Given the description of an element on the screen output the (x, y) to click on. 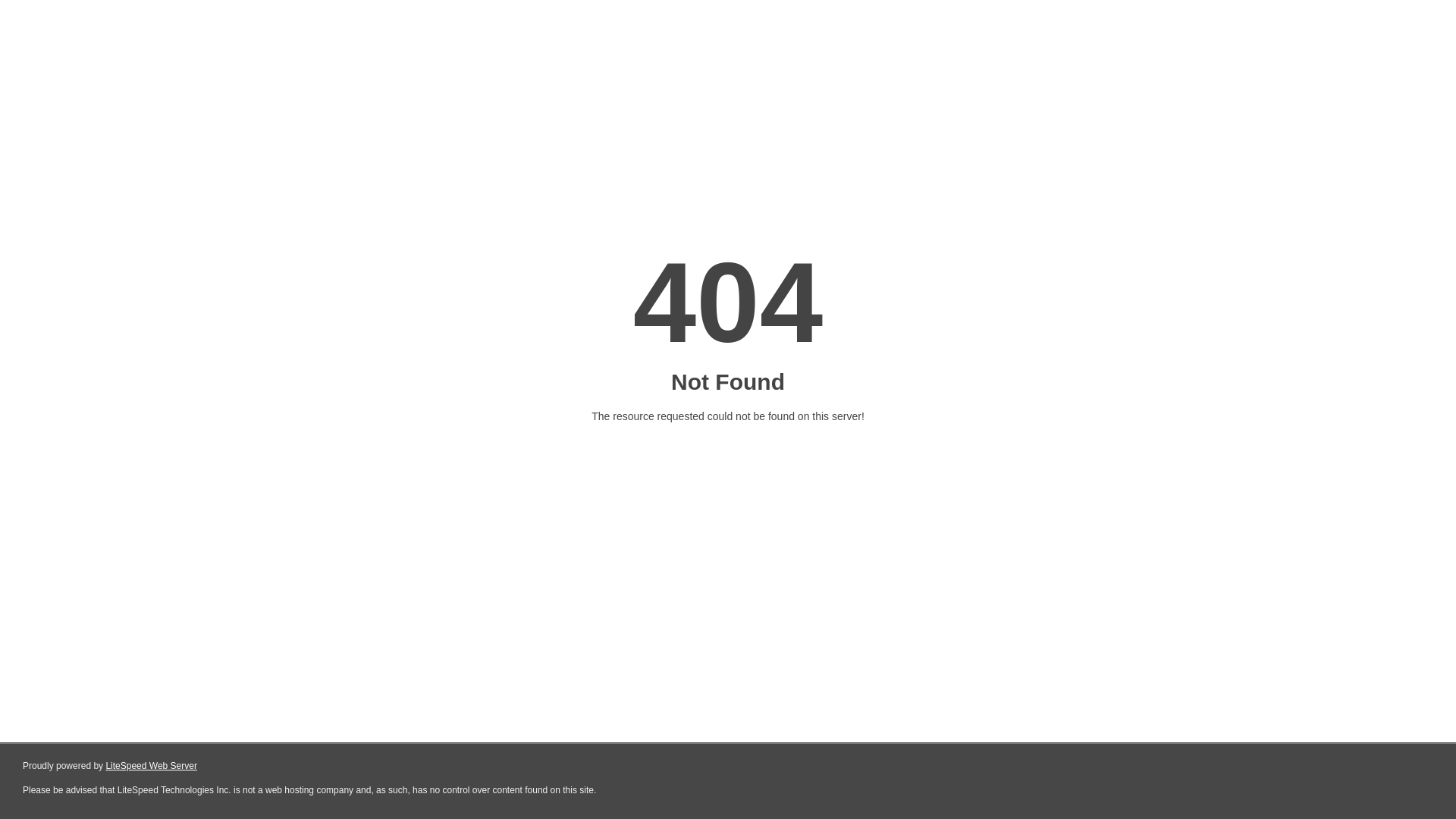
LiteSpeed Web Server Element type: text (151, 765)
